Given the description of an element on the screen output the (x, y) to click on. 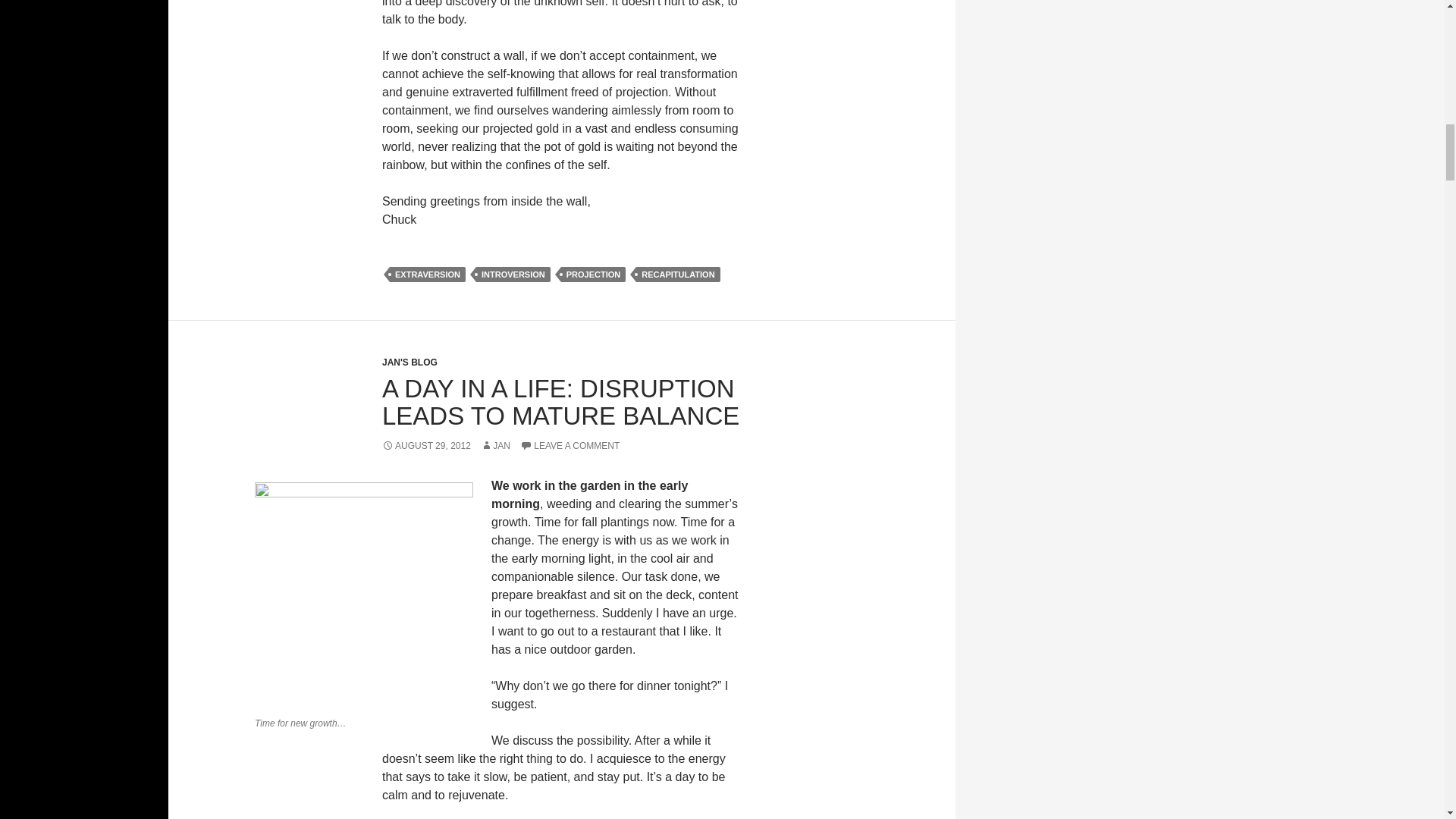
INTROVERSION (513, 273)
EXTRAVERSION (427, 273)
Photo by Jan (363, 596)
